Given the description of an element on the screen output the (x, y) to click on. 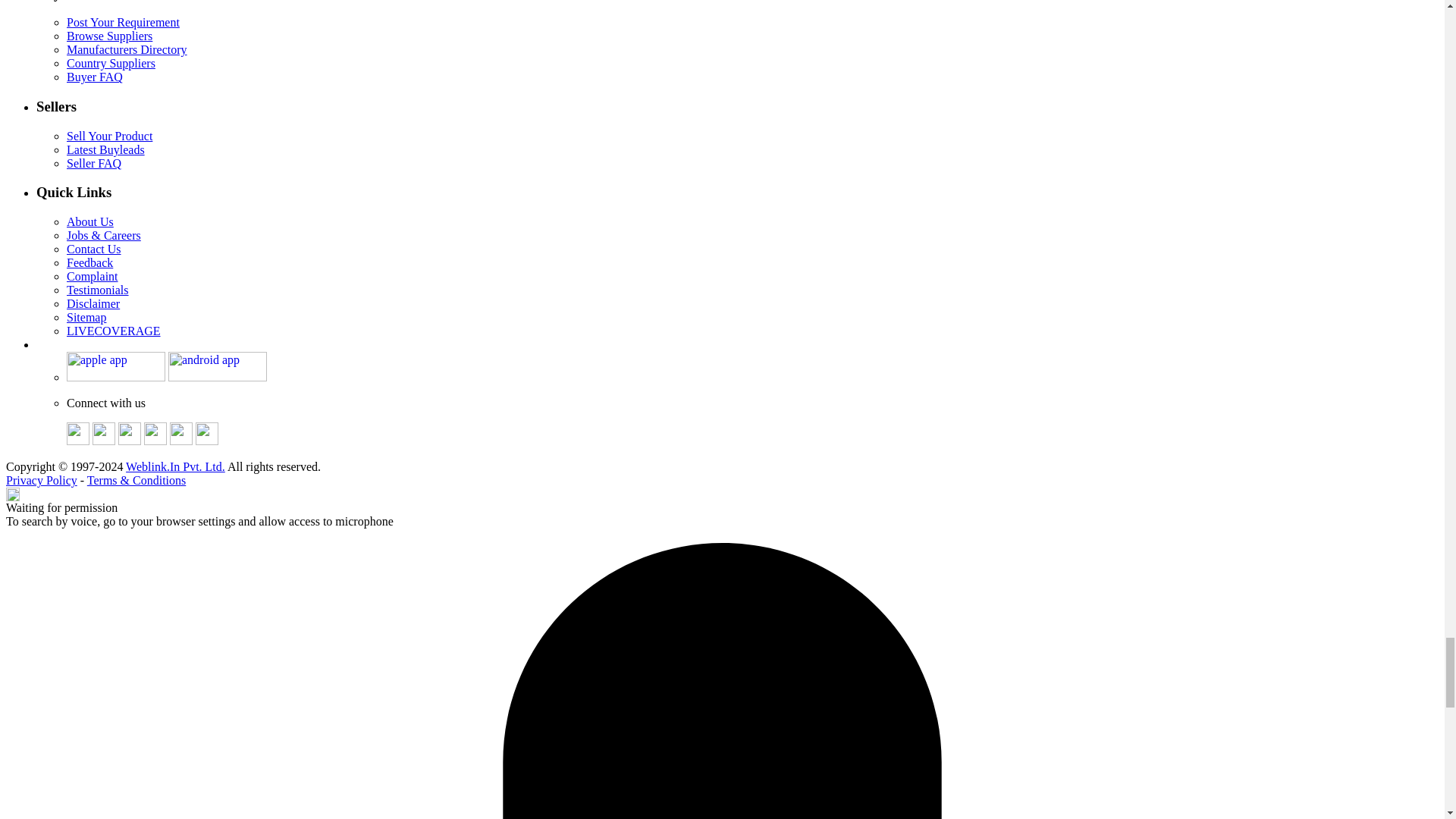
Follow us on Instagram (206, 440)
Follow us on Facebook (77, 440)
B2B Marketplace Guide (181, 440)
Connect Exportersindia on Linkedin (129, 440)
Follow us on Twitter (104, 440)
ExportersIndia on Pinterest (155, 440)
